Given the description of an element on the screen output the (x, y) to click on. 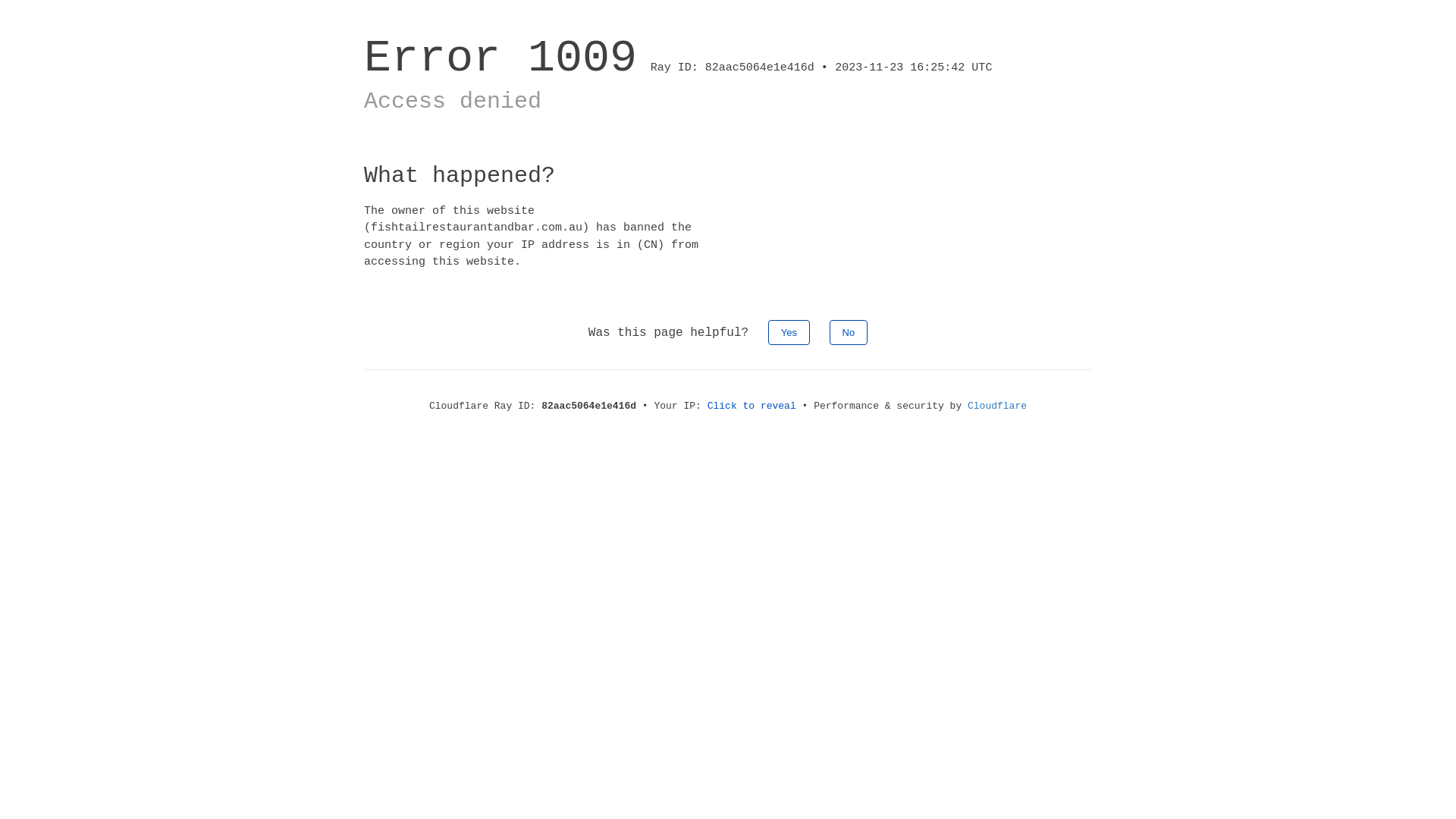
No Element type: text (848, 332)
Click to reveal Element type: text (751, 405)
Yes Element type: text (788, 332)
Cloudflare Element type: text (996, 405)
